Given the description of an element on the screen output the (x, y) to click on. 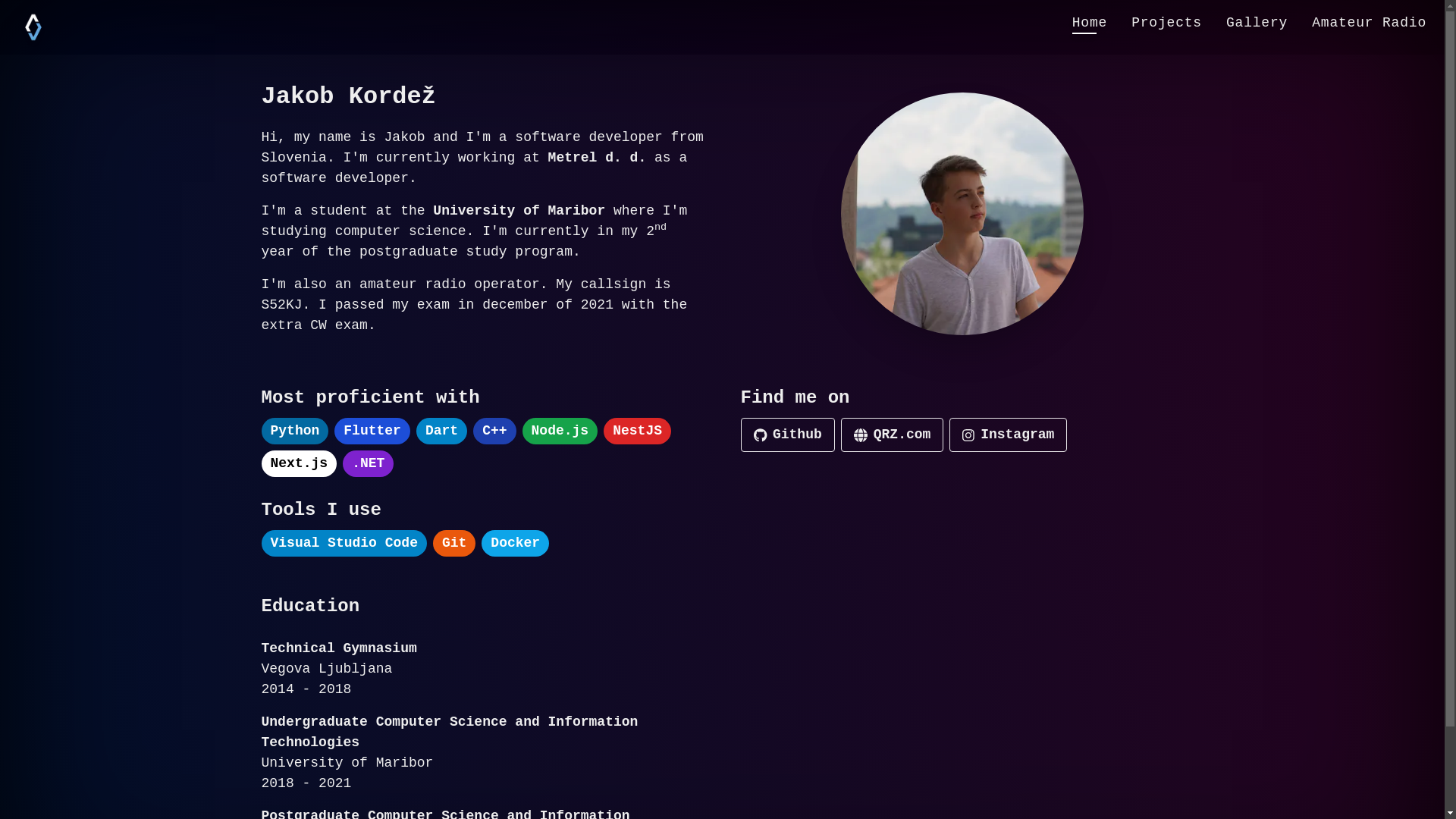
NestJS Element type: text (637, 430)
Next.js Element type: text (298, 463)
QRZ.com Element type: text (892, 434)
Home Element type: text (1089, 22)
Python Element type: text (294, 430)
Instagram Element type: text (1007, 434)
Amateur Radio Element type: text (1368, 22)
Node.js Element type: text (560, 430)
.NET Element type: text (367, 463)
Projects Element type: text (1166, 22)
Github Element type: text (787, 434)
Dart Element type: text (441, 430)
Flutter Element type: text (372, 430)
Gallery Element type: text (1256, 22)
